Given the description of an element on the screen output the (x, y) to click on. 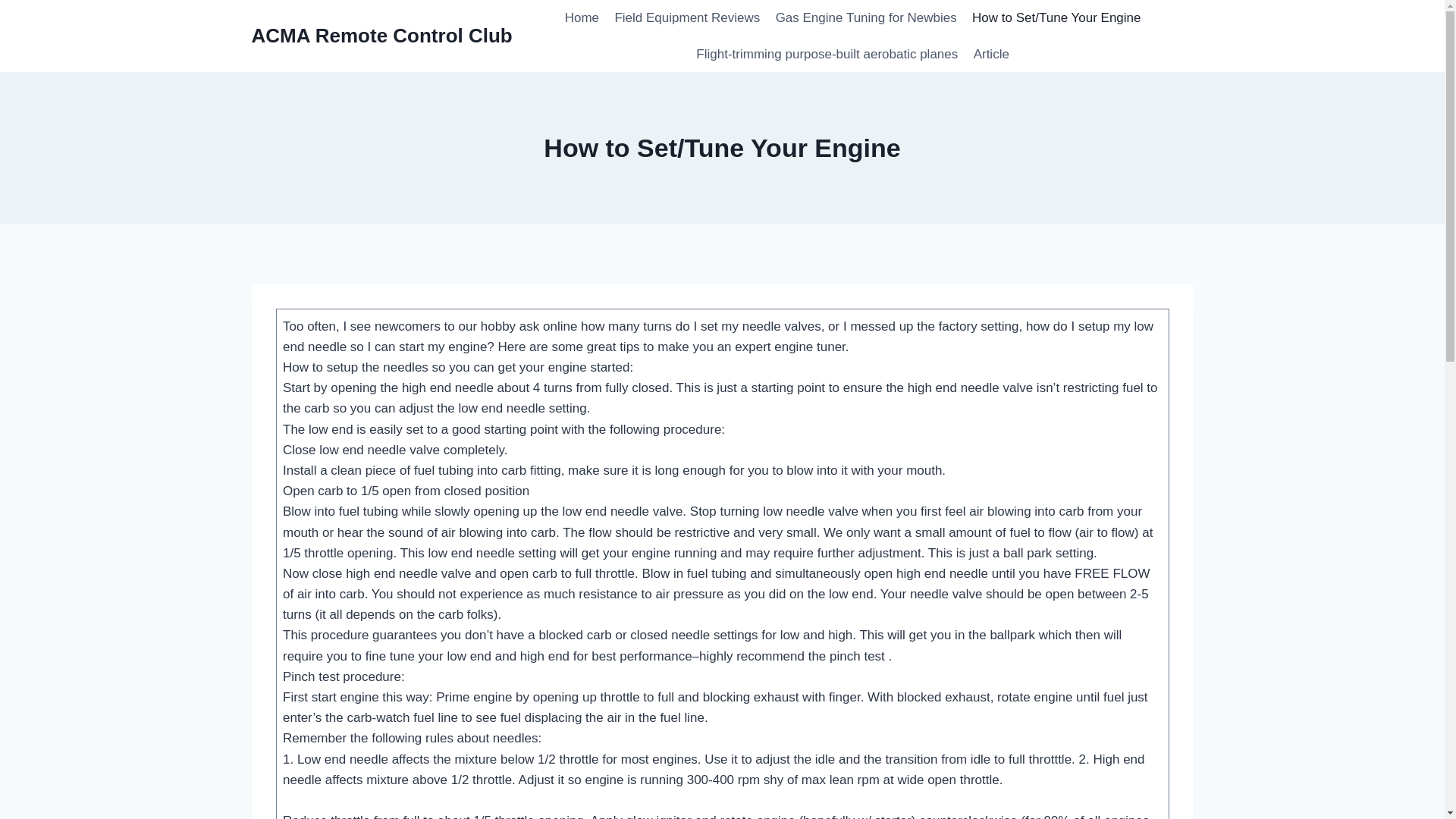
Flight-trimming purpose-built aerobatic planes (826, 54)
Home (582, 18)
Article (990, 54)
ACMA Remote Control Club (381, 35)
Field Equipment Reviews (687, 18)
Gas Engine Tuning for Newbies (865, 18)
